Given the description of an element on the screen output the (x, y) to click on. 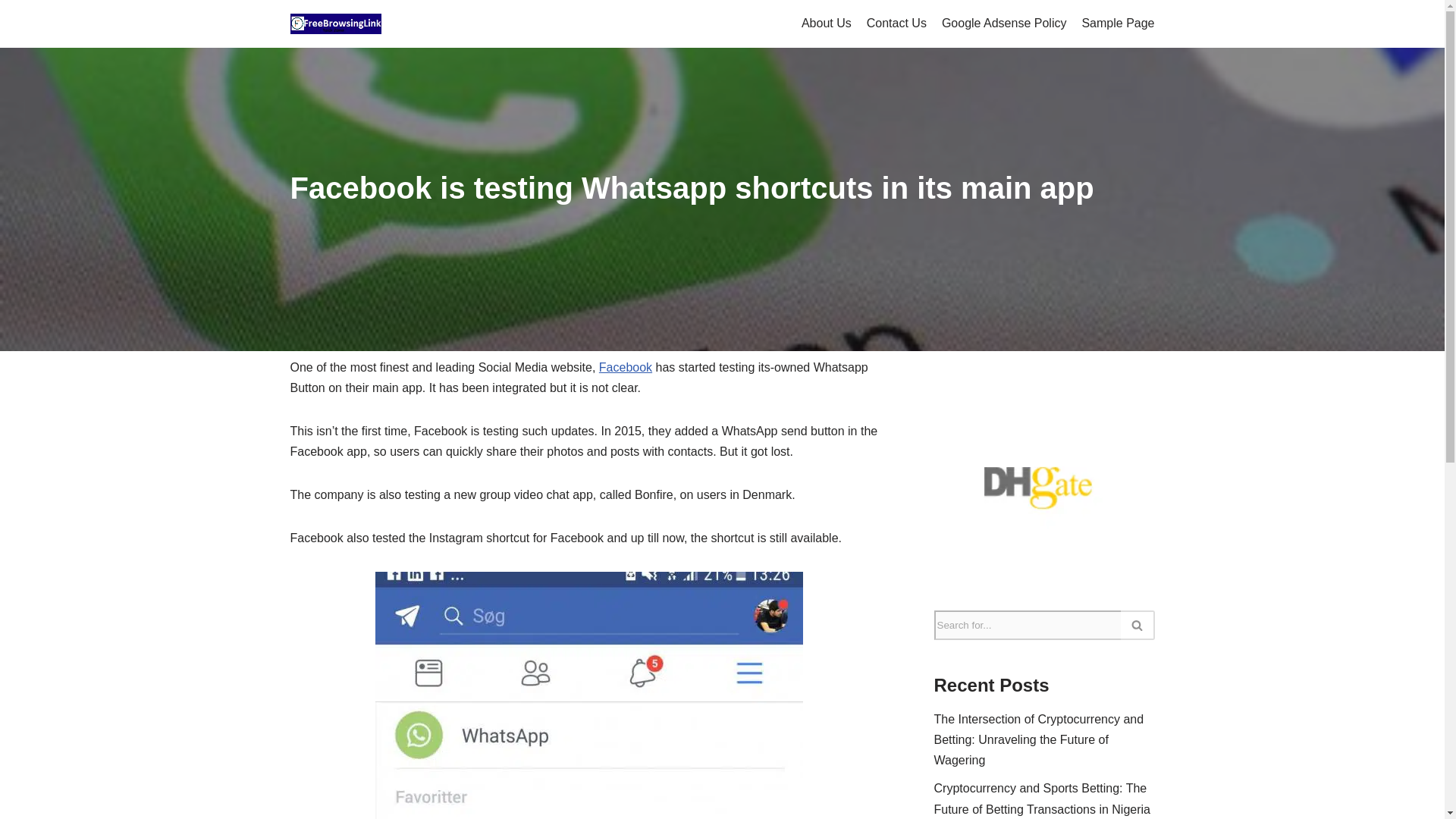
Skip to content (11, 31)
Sample Page (1117, 23)
Contact Us (896, 23)
About Us (826, 23)
Google Adsense Policy (1004, 23)
Facebook (625, 367)
